Given the description of an element on the screen output the (x, y) to click on. 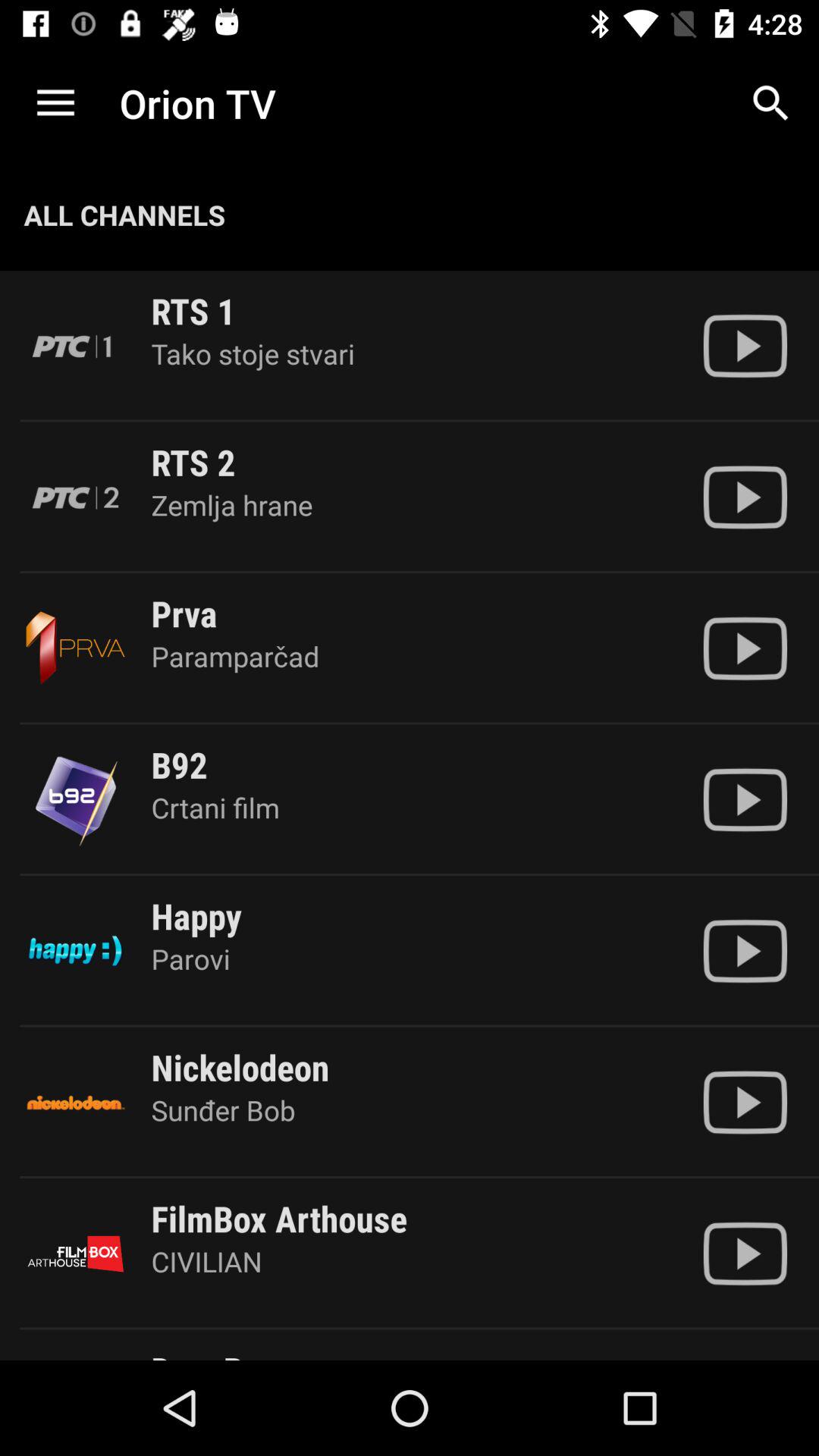
play channel (745, 799)
